Given the description of an element on the screen output the (x, y) to click on. 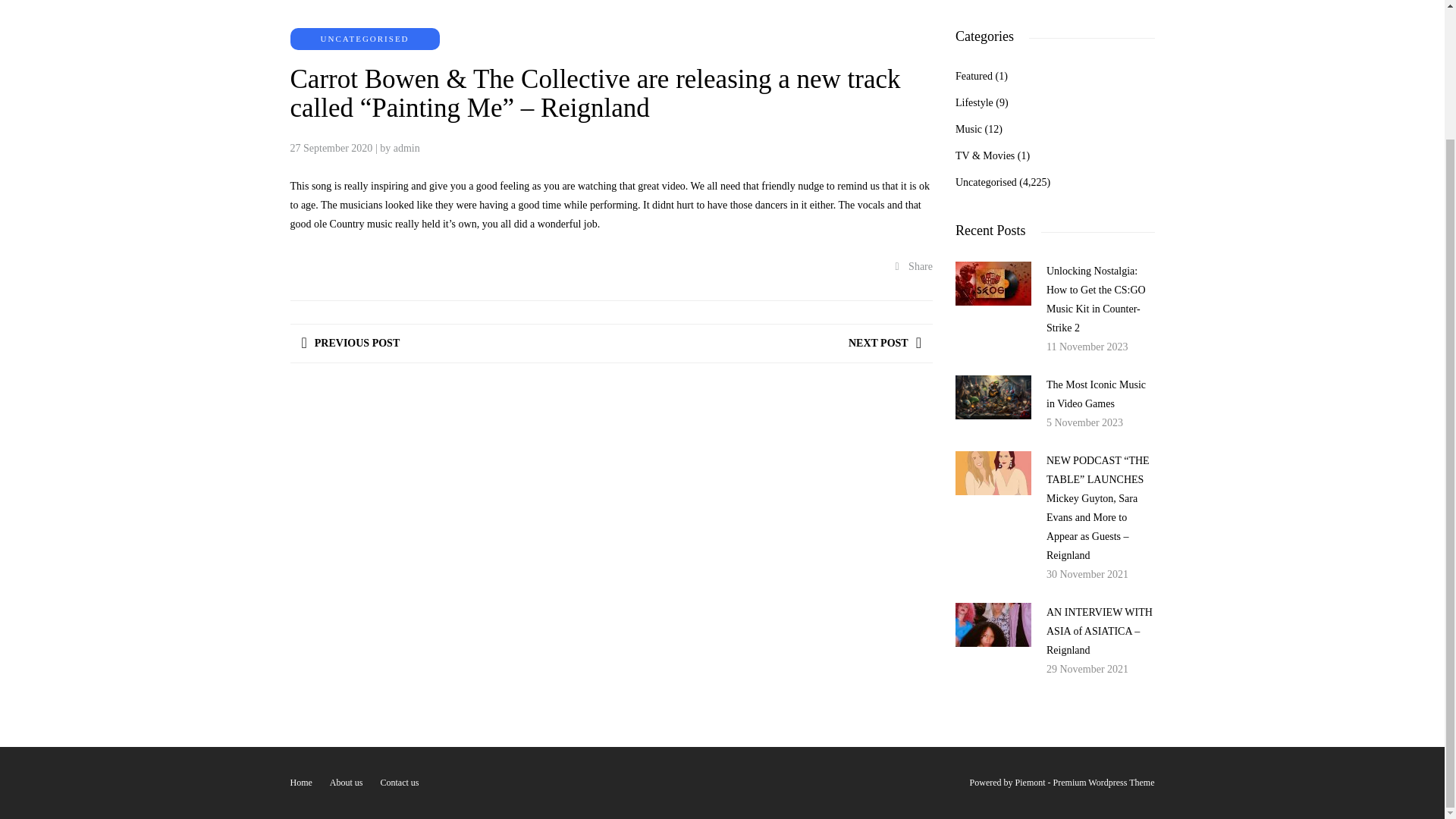
The Most Iconic Music in Video Games (1095, 394)
UNCATEGORISED (364, 38)
Featured (973, 75)
Uncategorised (985, 182)
Lifestyle (973, 102)
PREVIOUS POST (350, 343)
Home (300, 782)
Music (968, 129)
NEXT POST (884, 343)
Share (914, 266)
